Given the description of an element on the screen output the (x, y) to click on. 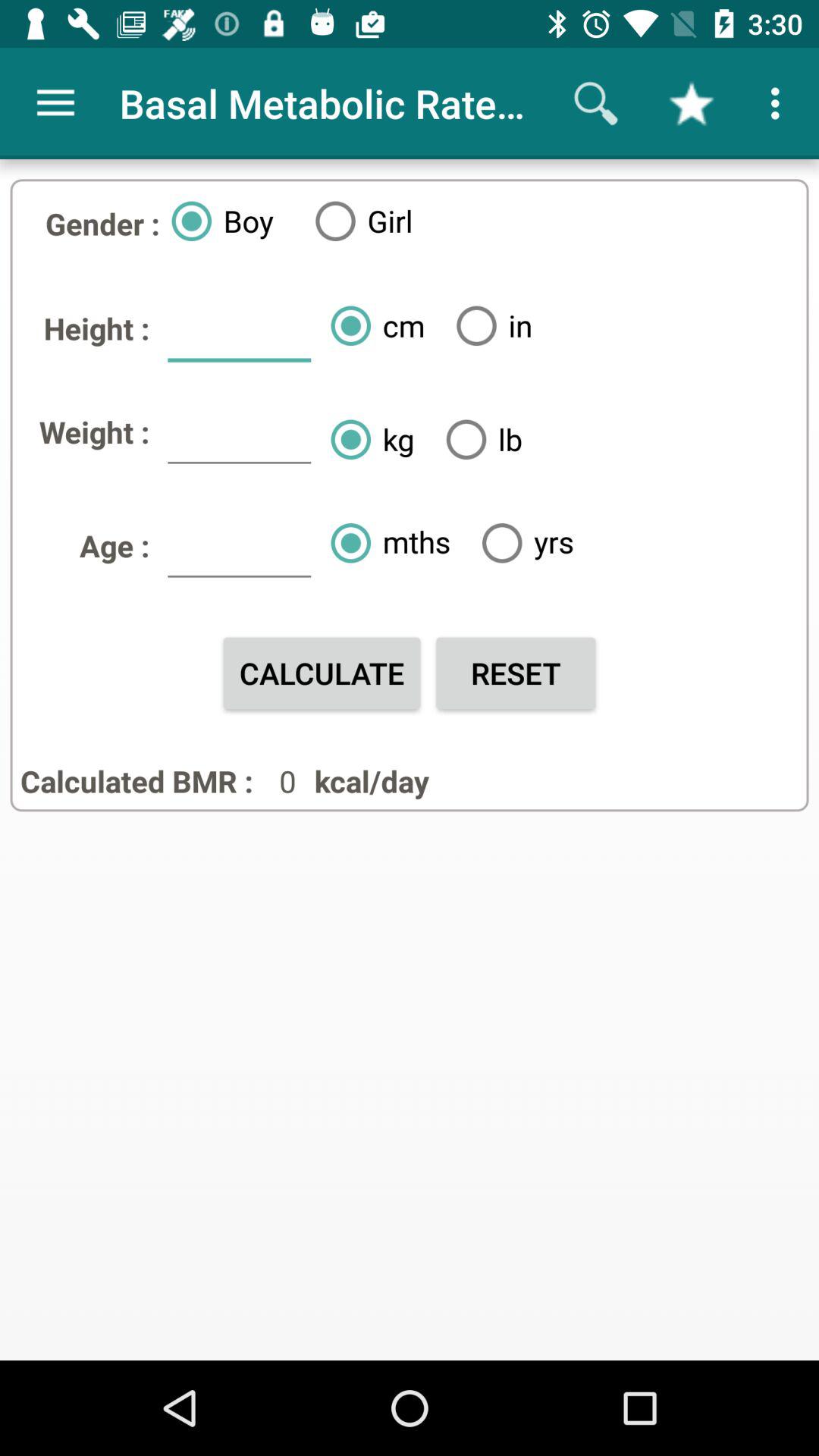
tap the icon next to the gender : icon (216, 221)
